Given the description of an element on the screen output the (x, y) to click on. 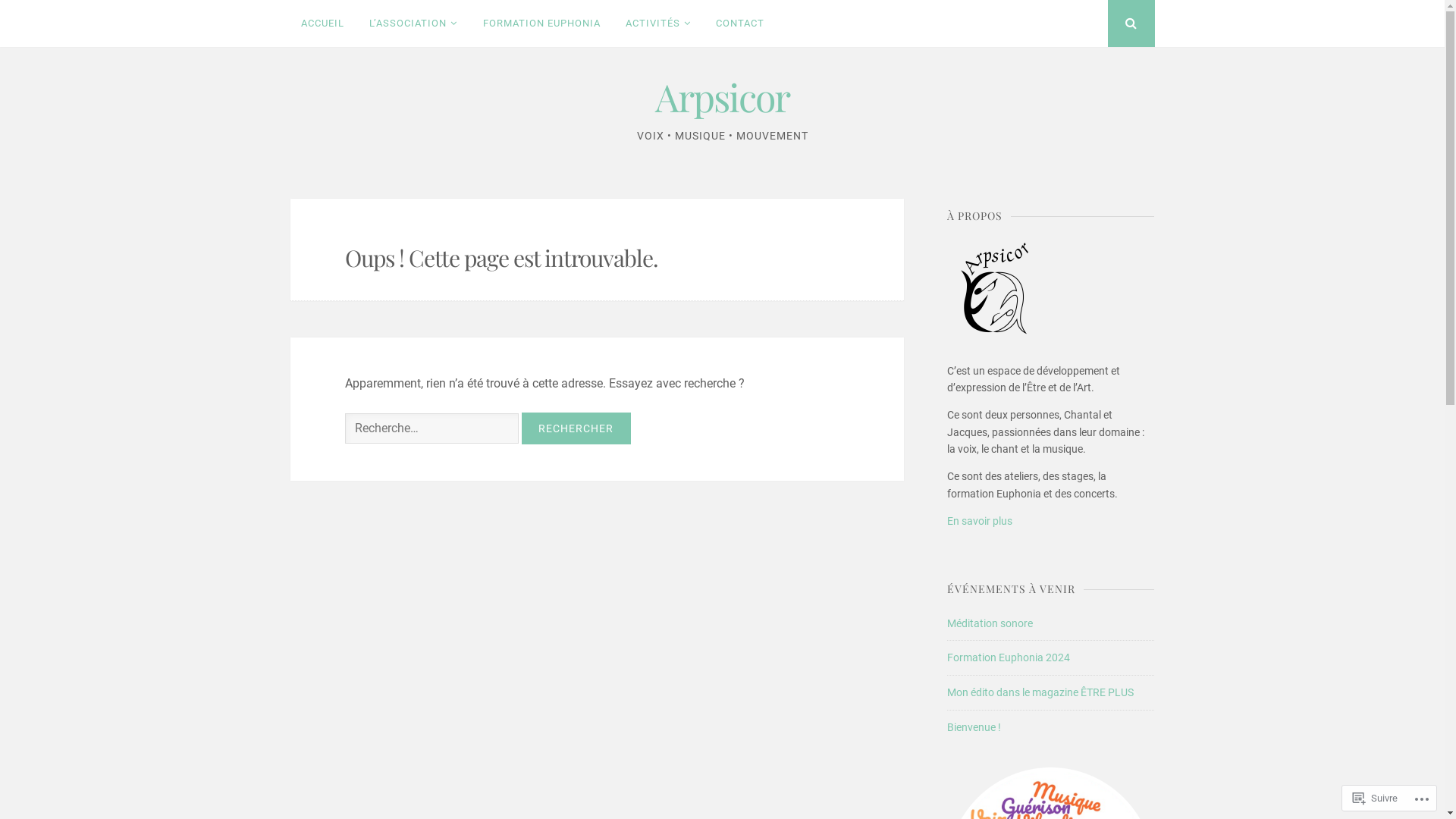
FORMATION EUPHONIA Element type: text (541, 23)
Arpsicor Element type: text (722, 96)
Arpsicor Element type: hover (993, 289)
Bienvenue ! Element type: text (974, 727)
En savoir plus Element type: text (979, 520)
Formation Euphonia 2024 Element type: text (1008, 657)
ACCUEIL Element type: text (321, 23)
Rechercher Element type: text (575, 428)
Suivre Element type: text (1374, 797)
CONTACT Element type: text (740, 23)
